Given the description of an element on the screen output the (x, y) to click on. 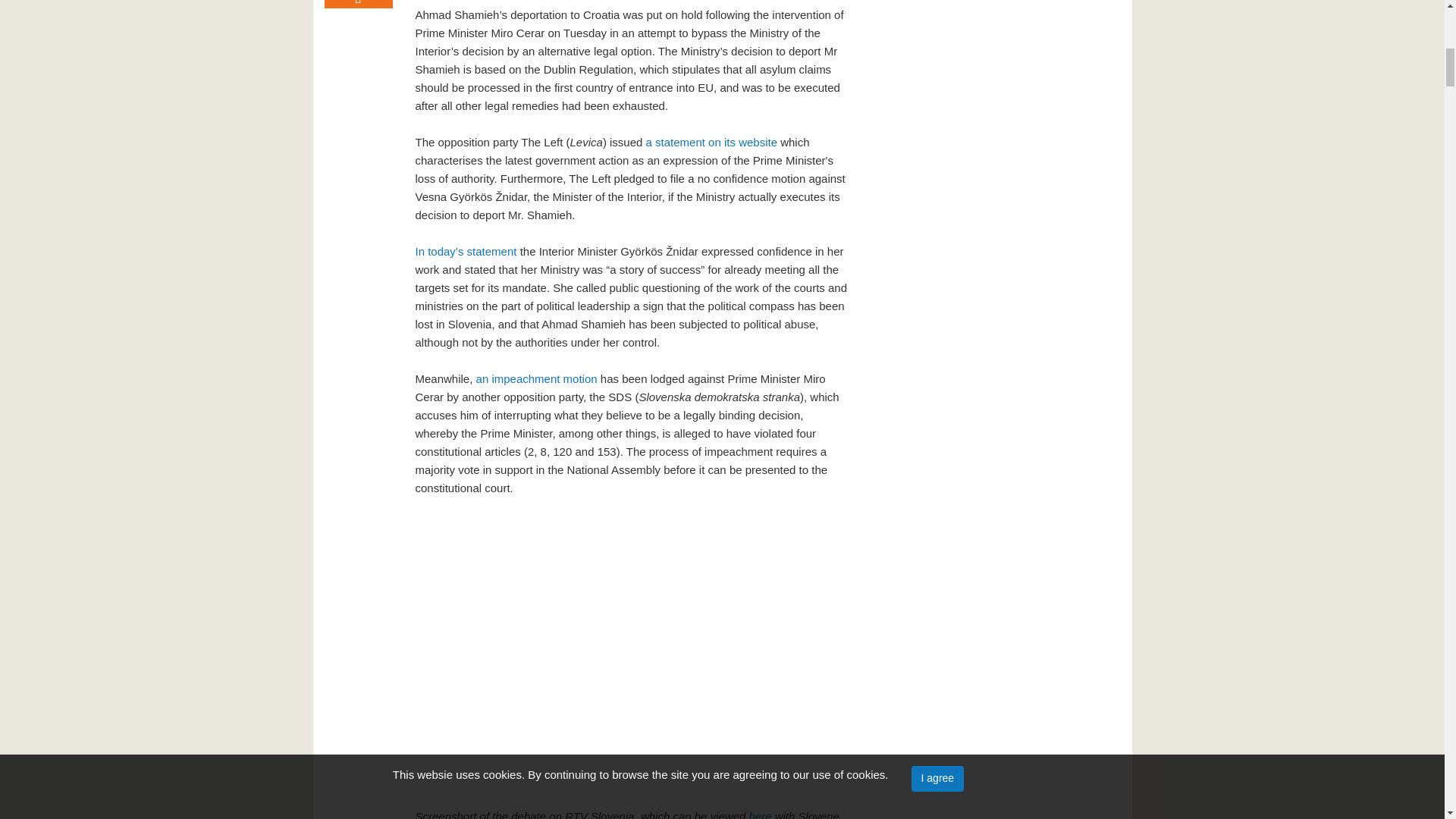
a statement on its website (711, 141)
an impeachment motion (536, 378)
Share (358, 4)
here (760, 814)
